Given the description of an element on the screen output the (x, y) to click on. 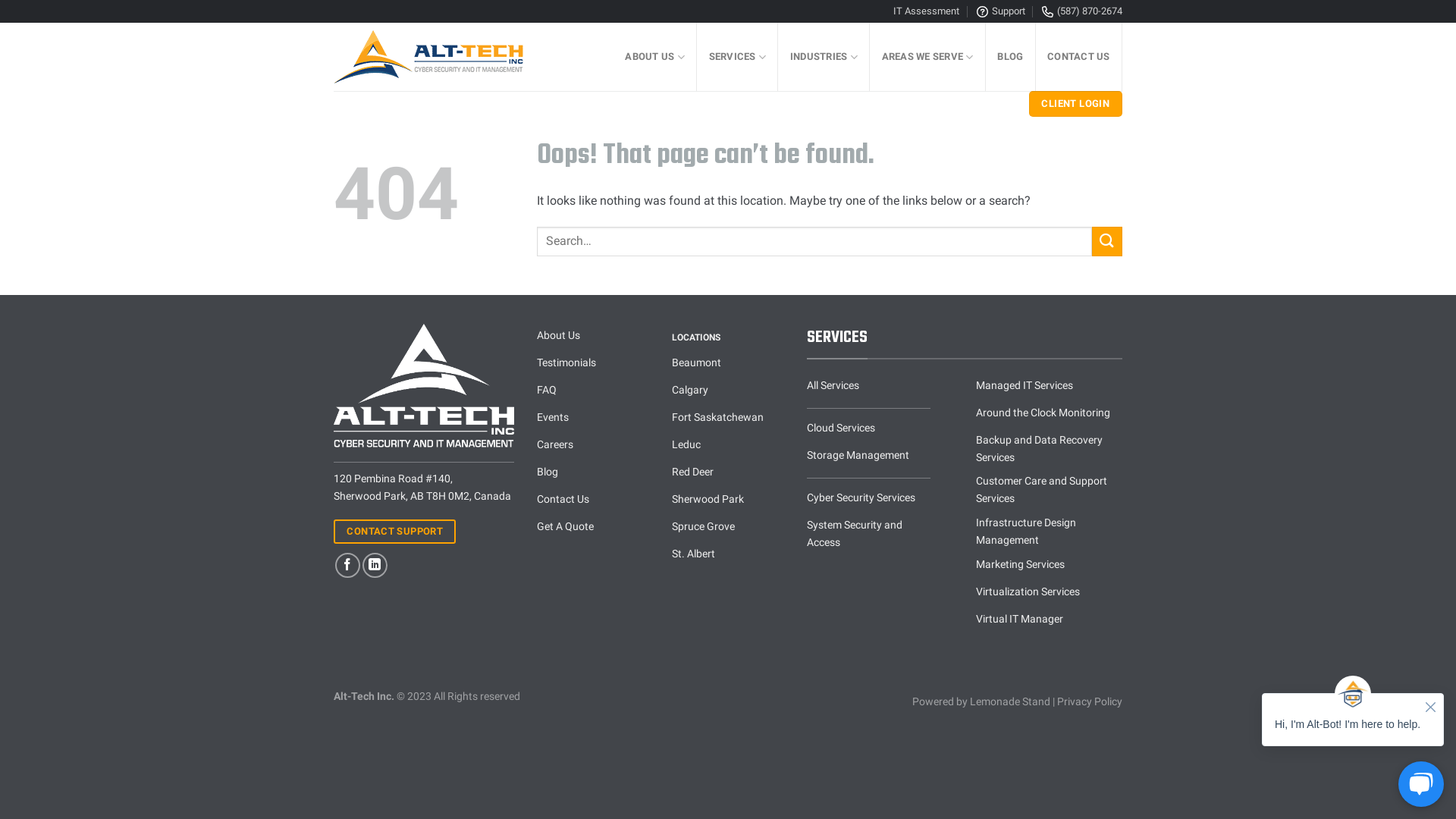
Follow on LinkedIn Element type: hover (374, 564)
Events Element type: text (592, 419)
System Security and Access Element type: text (868, 534)
Support Element type: text (1000, 11)
INDUSTRIES Element type: text (823, 56)
Spruce Grove Element type: text (727, 528)
Alt-Tech Inc. - Technology Solutions Simplified Element type: hover (439, 56)
BLOG Element type: text (1010, 56)
AREAS WE SERVE Element type: text (927, 56)
Cyber Security Services Element type: text (868, 499)
Managed IT Services Element type: text (1048, 386)
Red Deer Element type: text (727, 473)
Marketing Services Element type: text (1048, 566)
Privacy Policy Element type: text (1089, 701)
Sherwood Park Element type: text (727, 500)
Backup and Data Recovery Services Element type: text (1048, 448)
CLIENT LOGIN Element type: text (1075, 103)
CONTACT US Element type: text (1078, 56)
CONTACT SUPPORT Element type: text (394, 531)
About Us Element type: text (592, 337)
Cloud Services Element type: text (868, 429)
IT Assessment Element type: text (926, 11)
Careers Element type: text (592, 446)
Get A Quote Element type: text (592, 528)
Testimonials Element type: text (592, 364)
FAQ Element type: text (592, 391)
Around the Clock Monitoring Element type: text (1048, 413)
Calgary Element type: text (727, 391)
Lemonade Stand Element type: text (1009, 701)
Contact Us Element type: text (592, 500)
Fort Saskatchewan Element type: text (727, 419)
Storage Management Element type: text (868, 456)
Blog Element type: text (592, 473)
SERVICES Element type: text (737, 56)
Customer Care and Support Services Element type: text (1048, 490)
Follow on Facebook Element type: hover (347, 564)
All Services Element type: text (868, 386)
Virtual IT Manager Element type: text (1048, 620)
Beaumont Element type: text (727, 364)
(587) 870-2674 Element type: text (1081, 11)
Virtualization Services Element type: text (1048, 593)
St. Albert Element type: text (727, 555)
Leduc Element type: text (727, 446)
Infrastructure Design Management Element type: text (1048, 531)
ABOUT US Element type: text (654, 56)
